Given the description of an element on the screen output the (x, y) to click on. 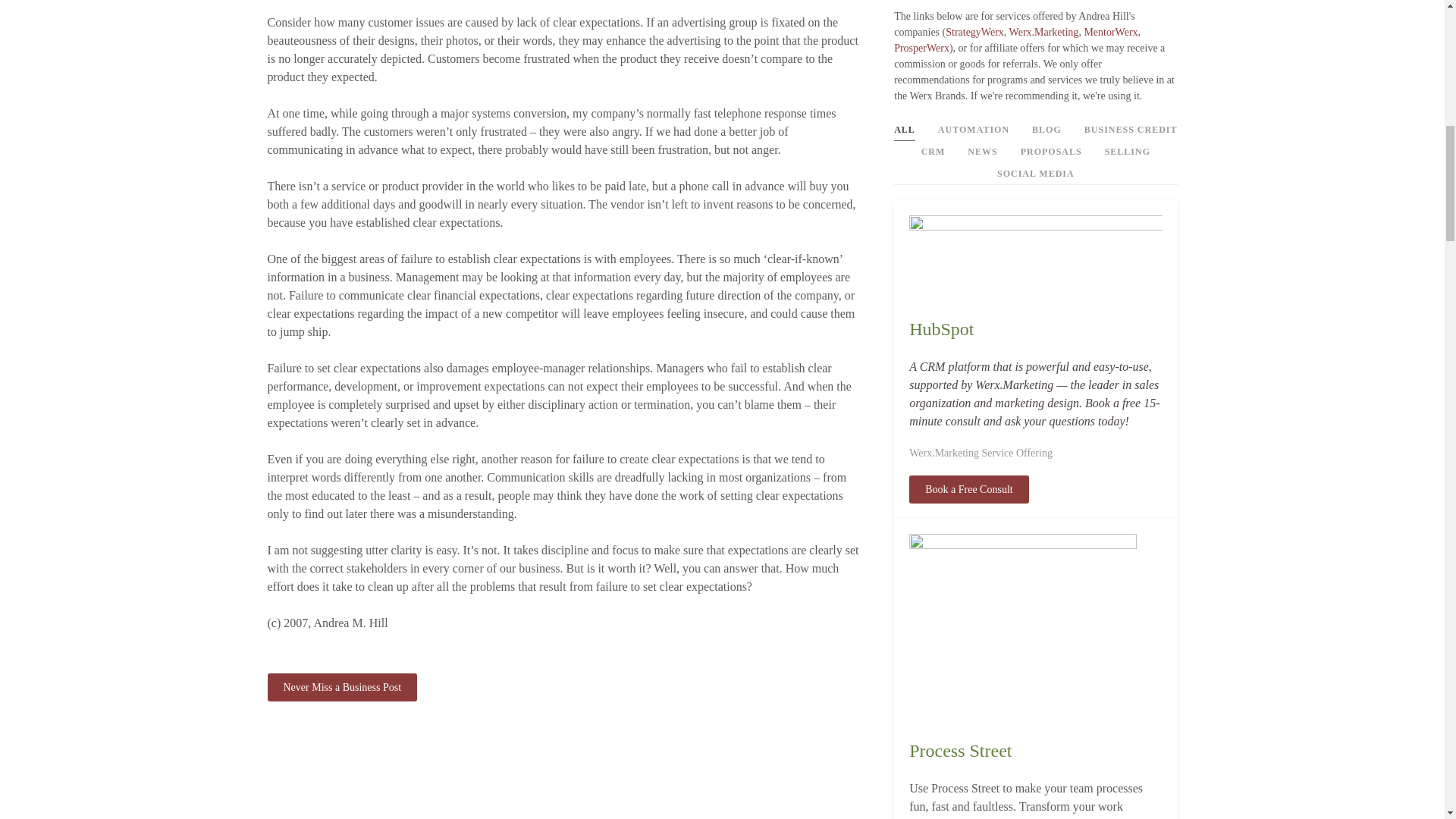
MentorWerx (1110, 31)
StrategyWerx (974, 31)
Werx.Marketing (1043, 31)
